Given the description of an element on the screen output the (x, y) to click on. 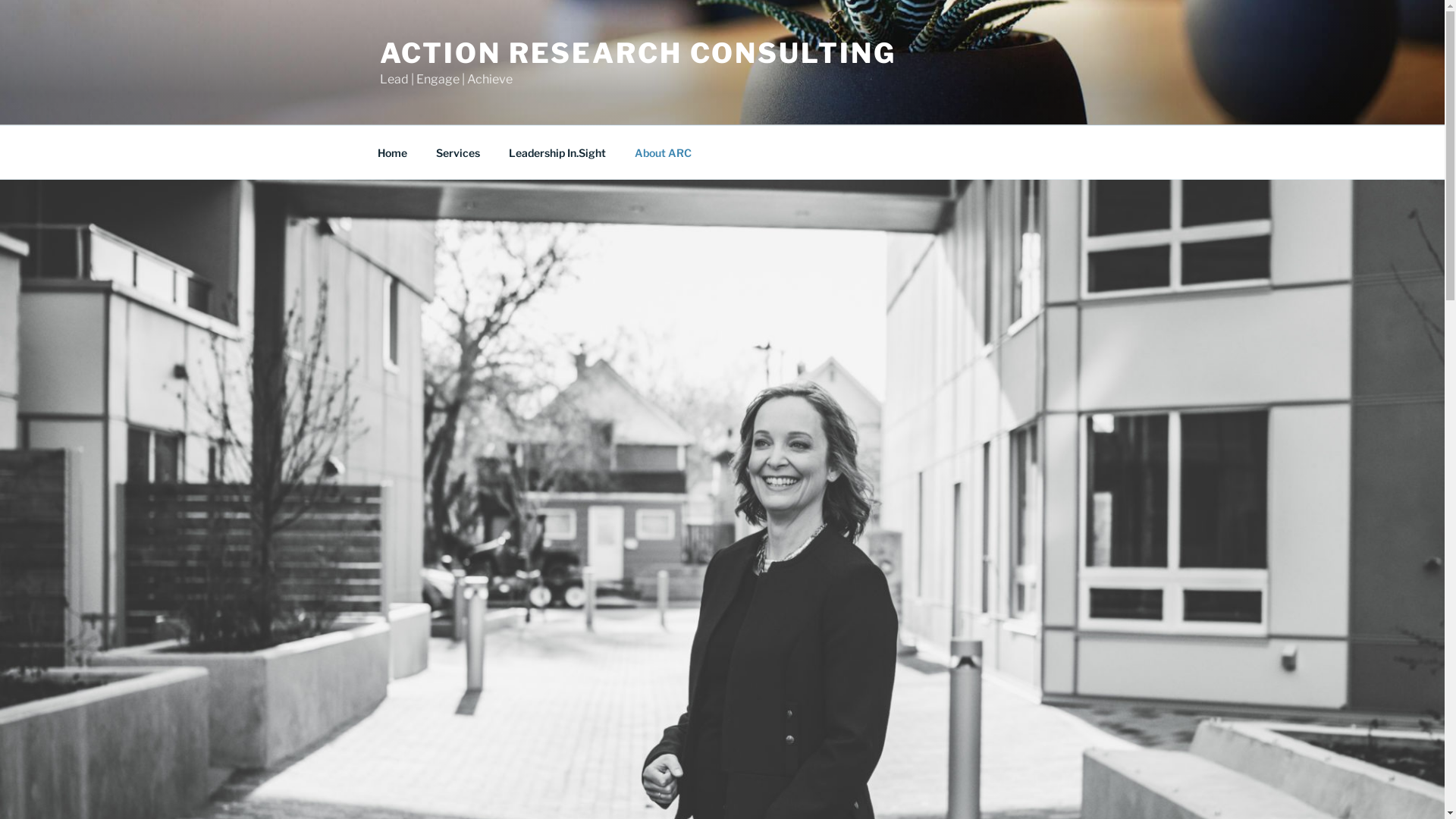
ACTION RESEARCH CONSULTING Element type: text (637, 52)
Home Element type: text (392, 151)
Services Element type: text (458, 151)
Leadership In.Sight Element type: text (557, 151)
About ARC Element type: text (663, 151)
